Given the description of an element on the screen output the (x, y) to click on. 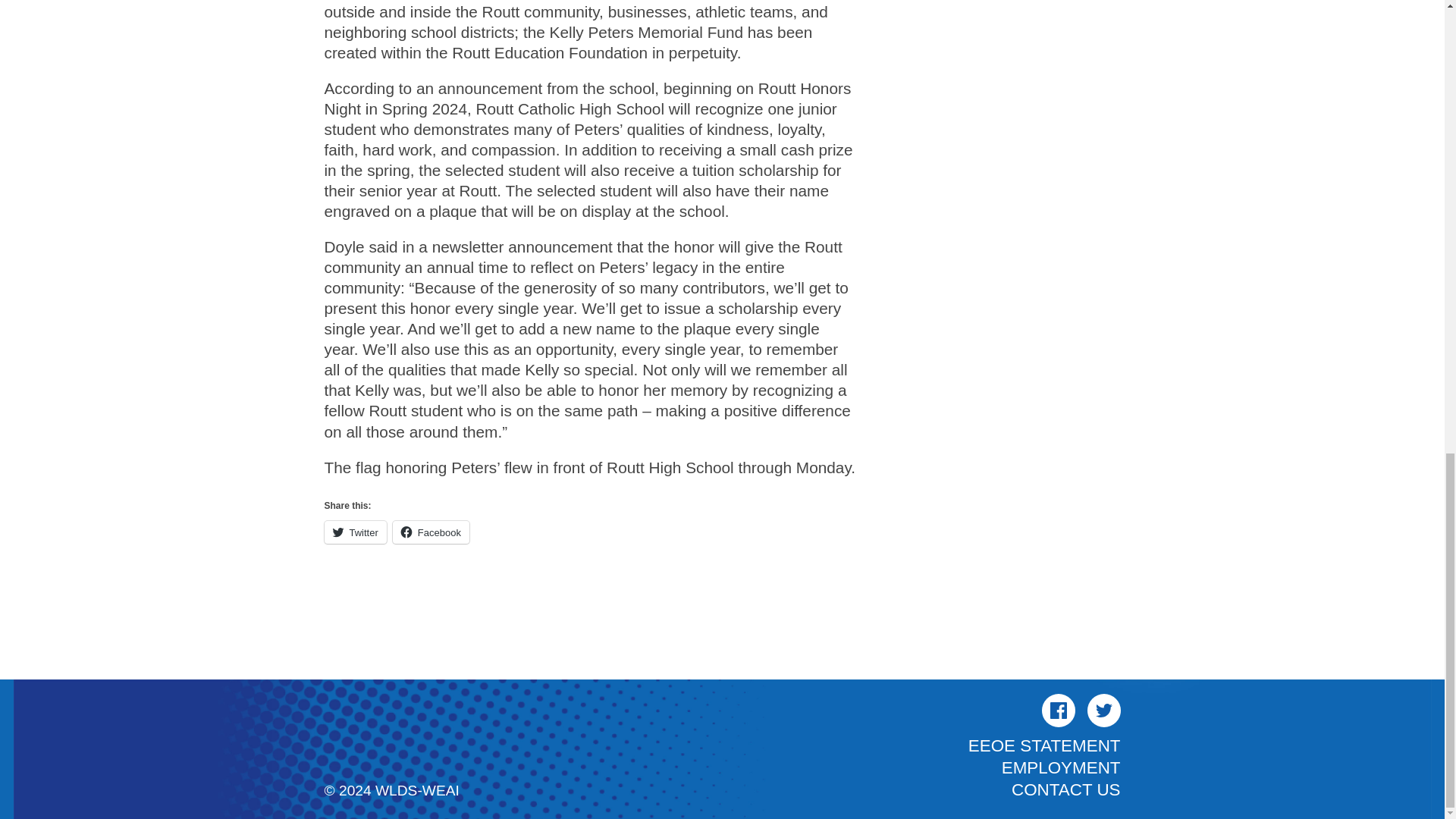
Facebook (430, 531)
Twitter (1104, 710)
Click to share on Twitter (355, 531)
Click to share on Facebook (430, 531)
Facebook (1058, 710)
Twitter (355, 531)
